Given the description of an element on the screen output the (x, y) to click on. 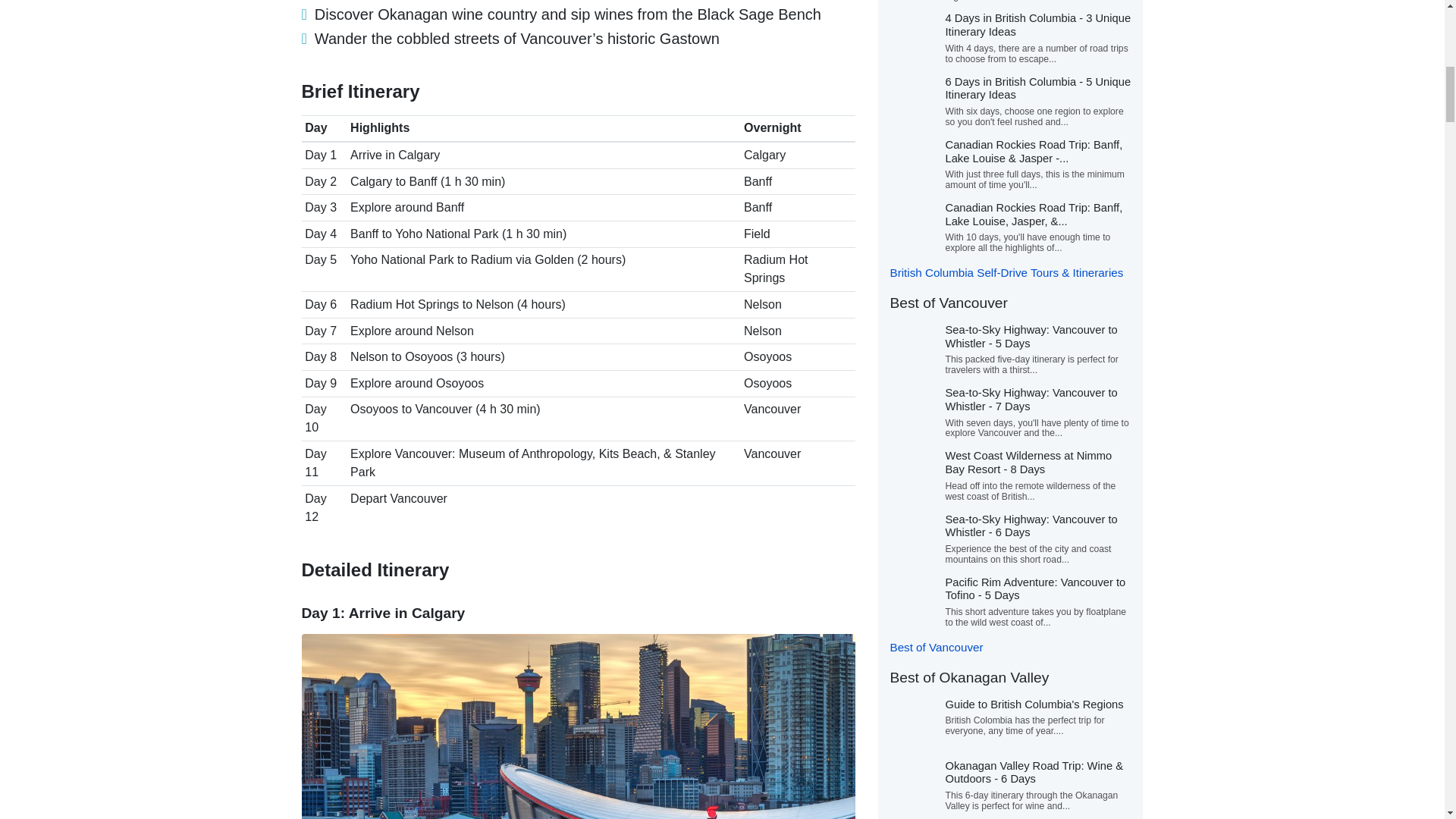
West Coast Wilderness at Nimmo Bay Resort - 8 Days (1028, 462)
Guide to British Columbia's Regions (1033, 704)
6 Days in British Columbia - 5 Unique Itinerary Ideas (1037, 88)
Sea-to-Sky Highway: Vancouver to Whistler - 5 Days (1030, 336)
Pacific Rim Adventure: Vancouver to Tofino - 5 Days (1034, 588)
4 Days in British Columbia - 3 Unique Itinerary Ideas (1037, 24)
Sea-to-Sky Highway: Vancouver to Whistler - 6 Days (1030, 525)
Sea-to-Sky Highway: Vancouver to Whistler - 7 Days (1030, 399)
